Given the description of an element on the screen output the (x, y) to click on. 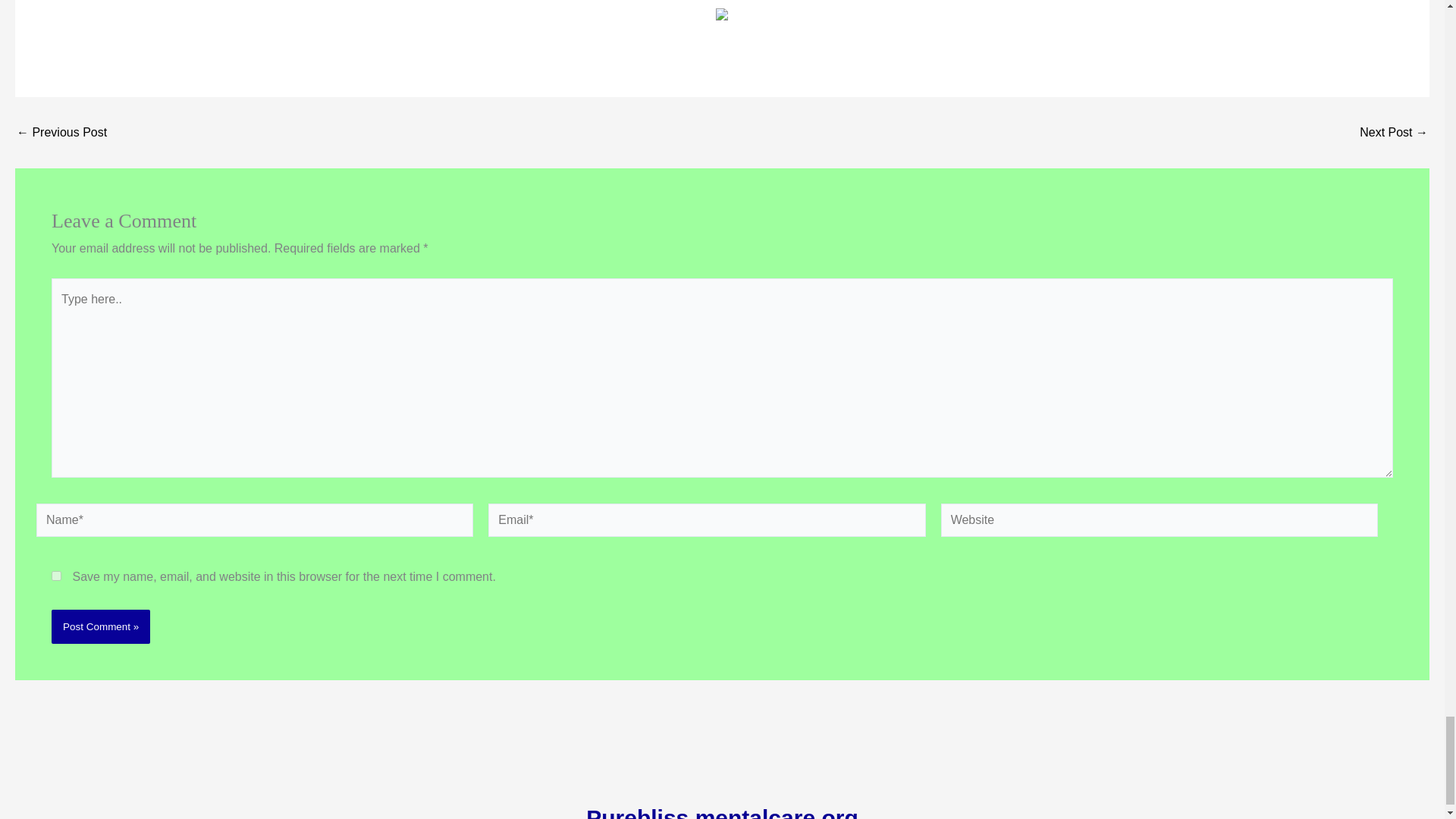
yes (55, 575)
Navigating Midlife Guilt. (61, 132)
10 Signs That You Are In Denial (1393, 132)
